Given the description of an element on the screen output the (x, y) to click on. 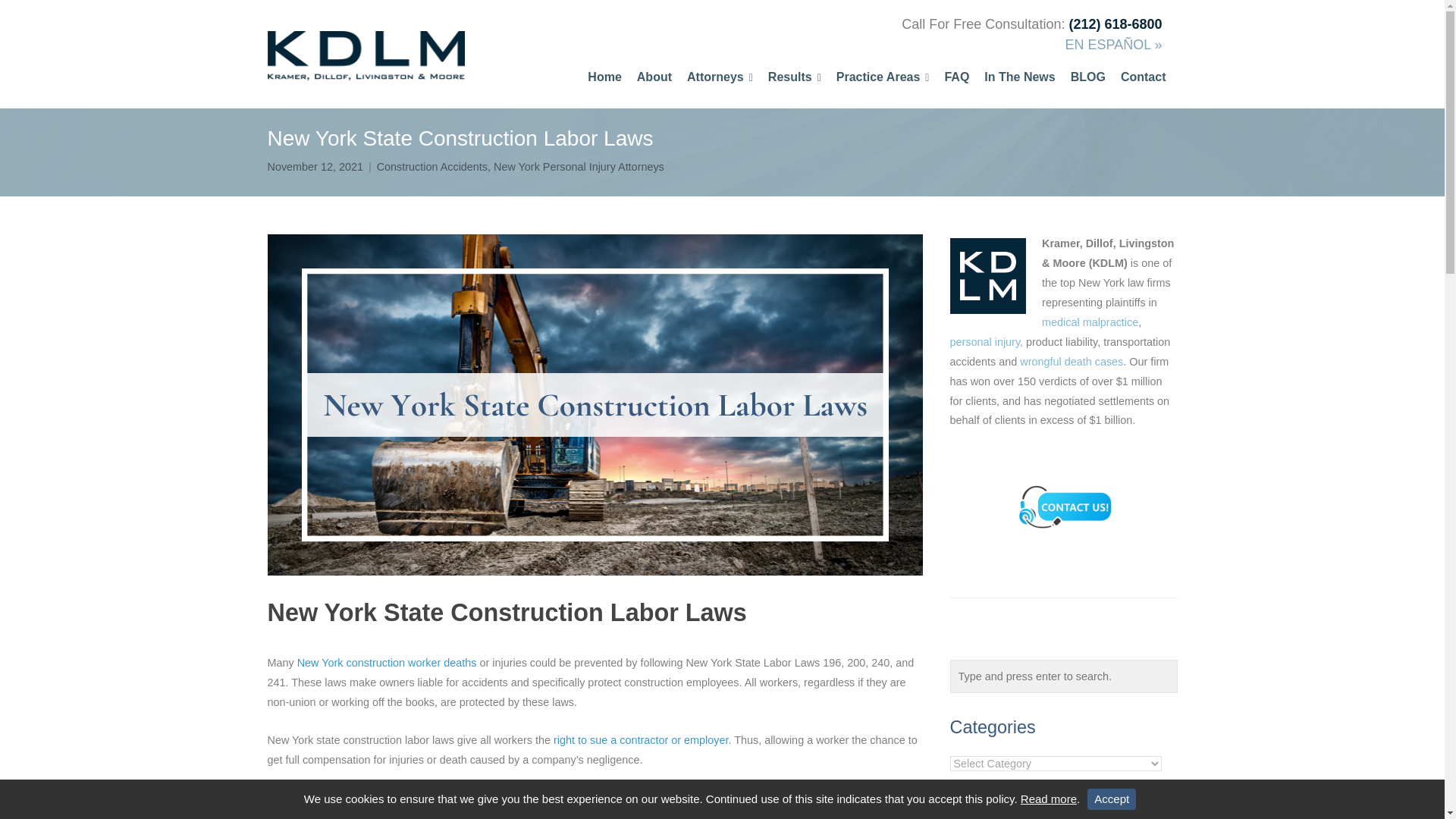
View all posts in Construction Accidents (432, 166)
View all posts in New York Personal Injury Attorneys (578, 166)
